Given the description of an element on the screen output the (x, y) to click on. 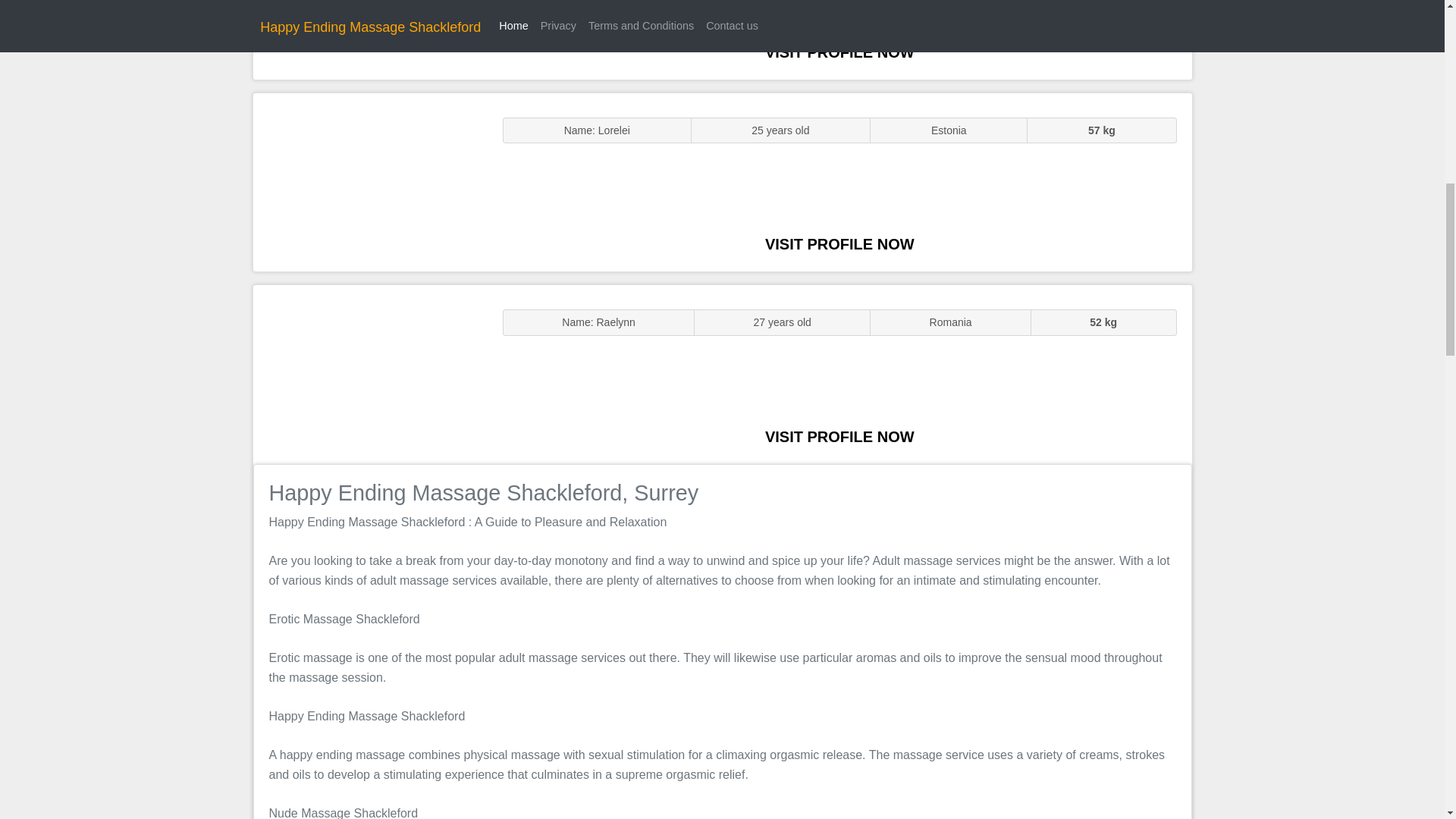
Sluts (370, 39)
VISIT PROFILE NOW (839, 243)
Massage (370, 374)
Sluts (370, 182)
VISIT PROFILE NOW (839, 52)
VISIT PROFILE NOW (839, 436)
